Given the description of an element on the screen output the (x, y) to click on. 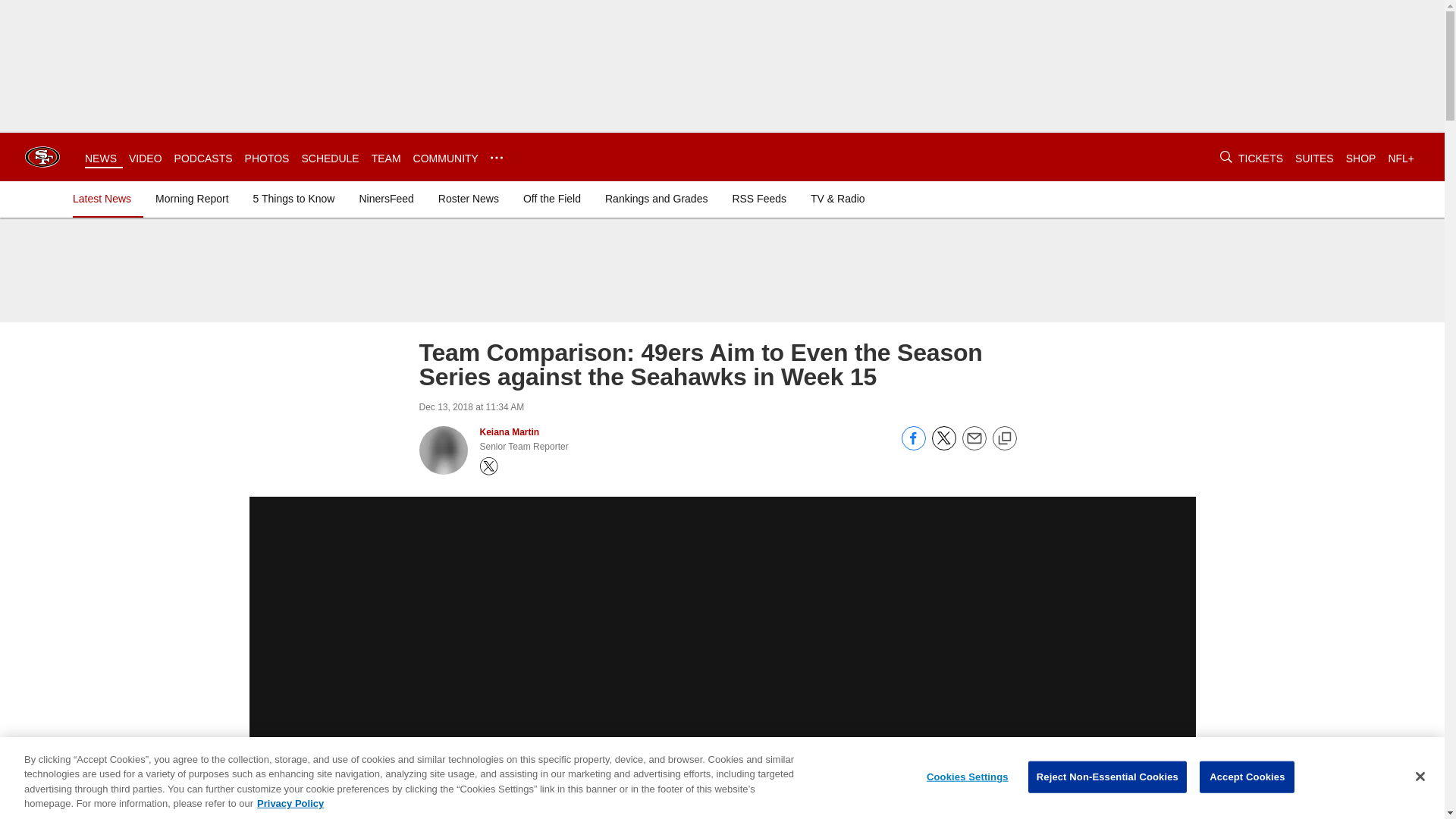
Rankings and Grades (655, 198)
PHOTOS (266, 158)
... (496, 157)
SCHEDULE (329, 158)
VIDEO (145, 158)
TICKETS (1260, 158)
COMMUNITY (446, 158)
SUITES (1314, 158)
Link to club's homepage (42, 156)
VIDEO (145, 158)
